Given the description of an element on the screen output the (x, y) to click on. 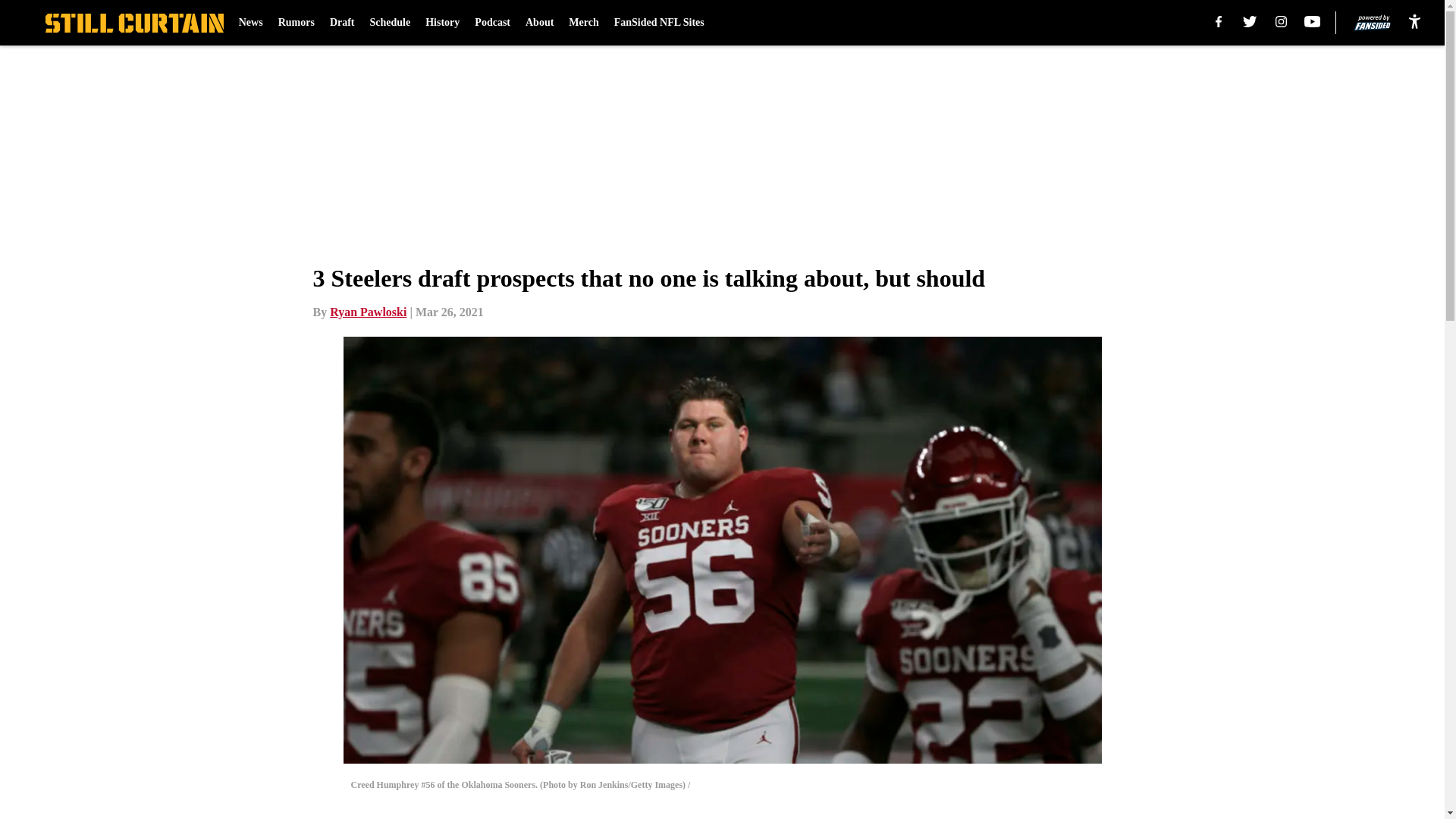
Ryan Pawloski (368, 311)
Draft (342, 22)
Merch (583, 22)
About (539, 22)
FanSided NFL Sites (659, 22)
Podcast (492, 22)
News (250, 22)
Schedule (389, 22)
Rumors (296, 22)
History (442, 22)
